Given the description of an element on the screen output the (x, y) to click on. 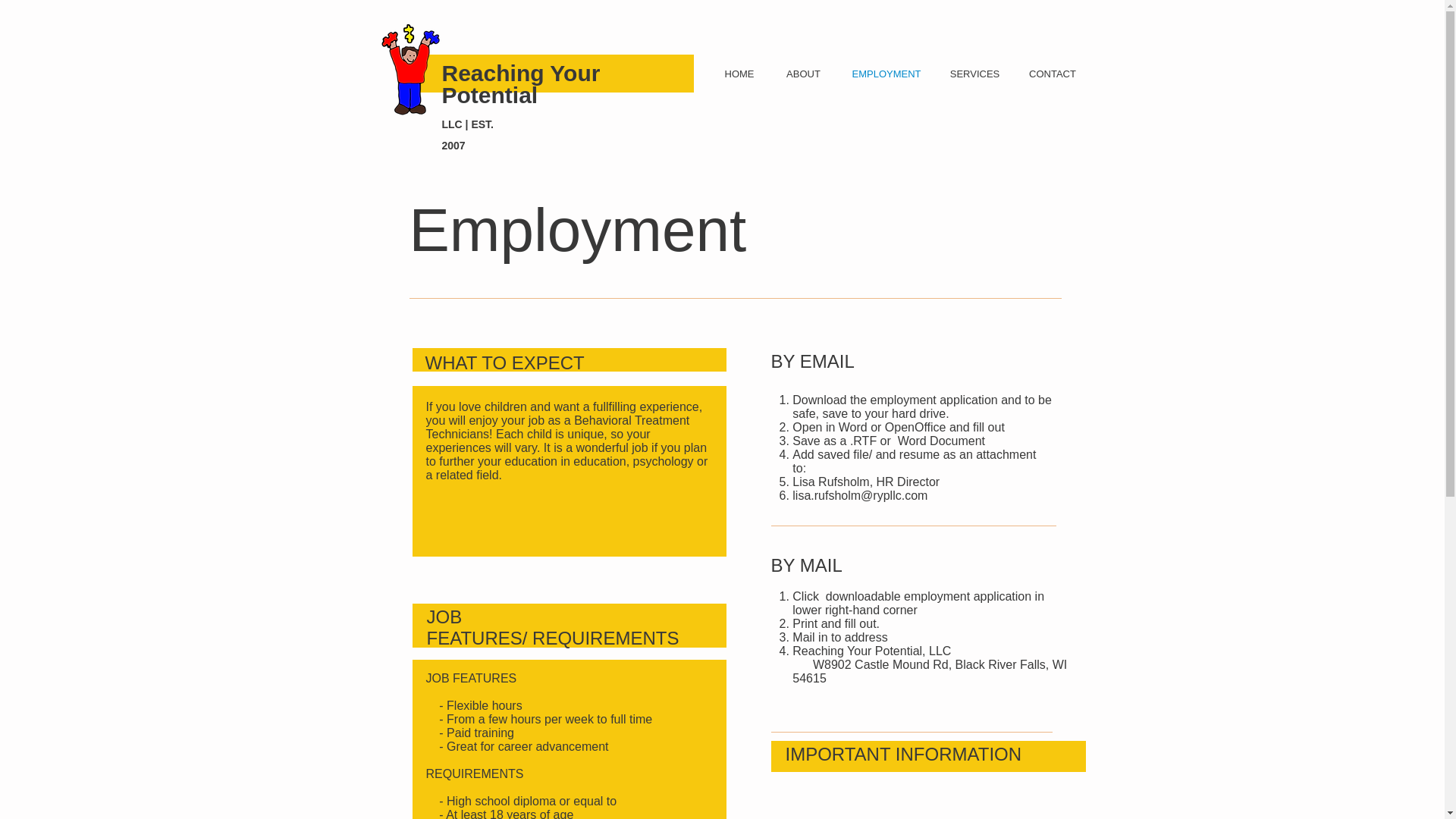
Edited Image 2014-6-29-17:32:40 (411, 70)
SERVICES (974, 73)
CONTACT (1051, 73)
HOME (738, 73)
EMPLOYMENT (886, 73)
Reaching Your Potential (520, 83)
ABOUT (803, 73)
